Given the description of an element on the screen output the (x, y) to click on. 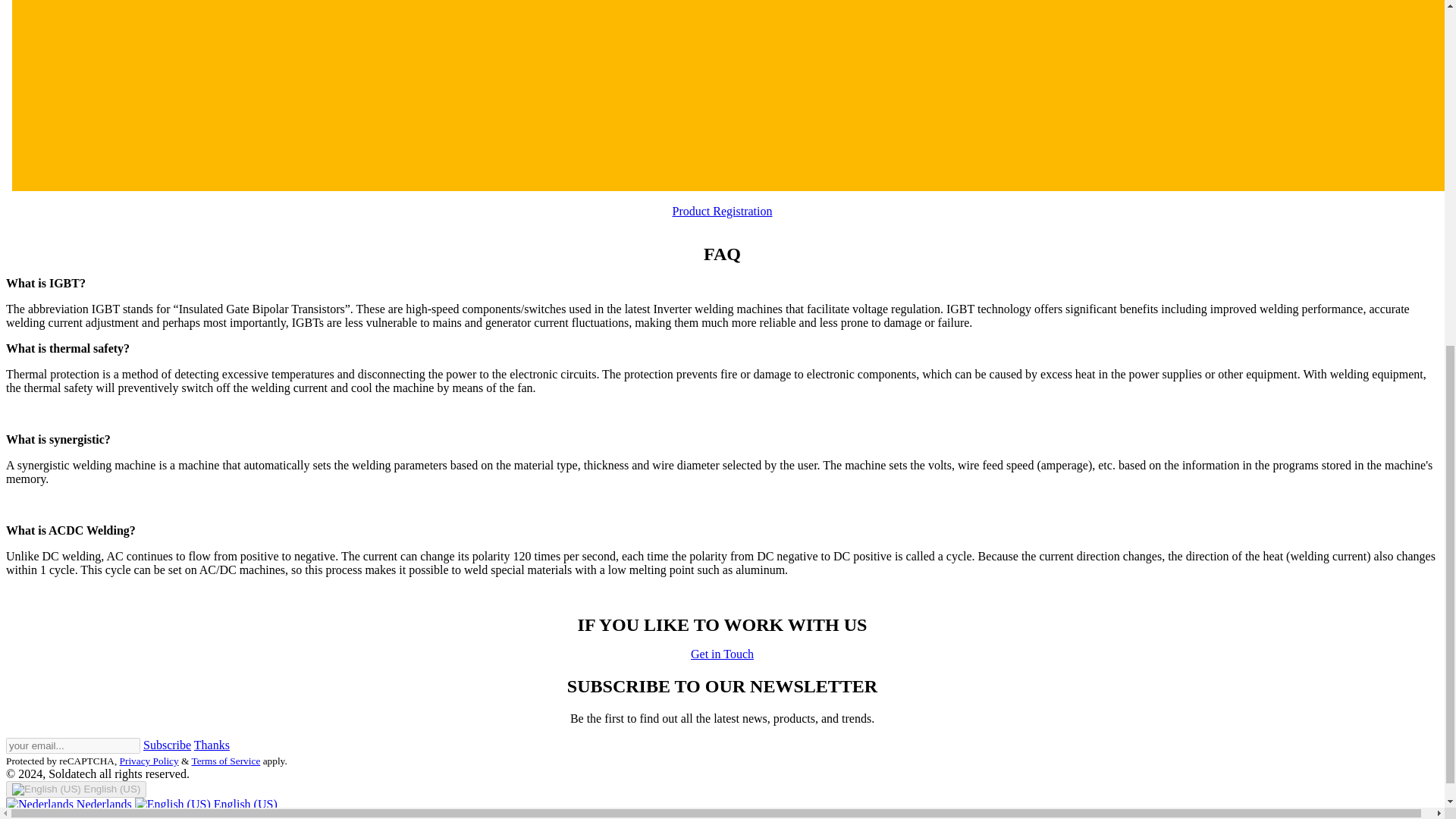
Thanks (211, 744)
Get in Touch (722, 653)
Nederlands (70, 803)
Product Registration (721, 210)
 Nederlands (70, 803)
Privacy Policy (149, 760)
Terms of Service (225, 760)
Subscribe (166, 744)
